Given the description of an element on the screen output the (x, y) to click on. 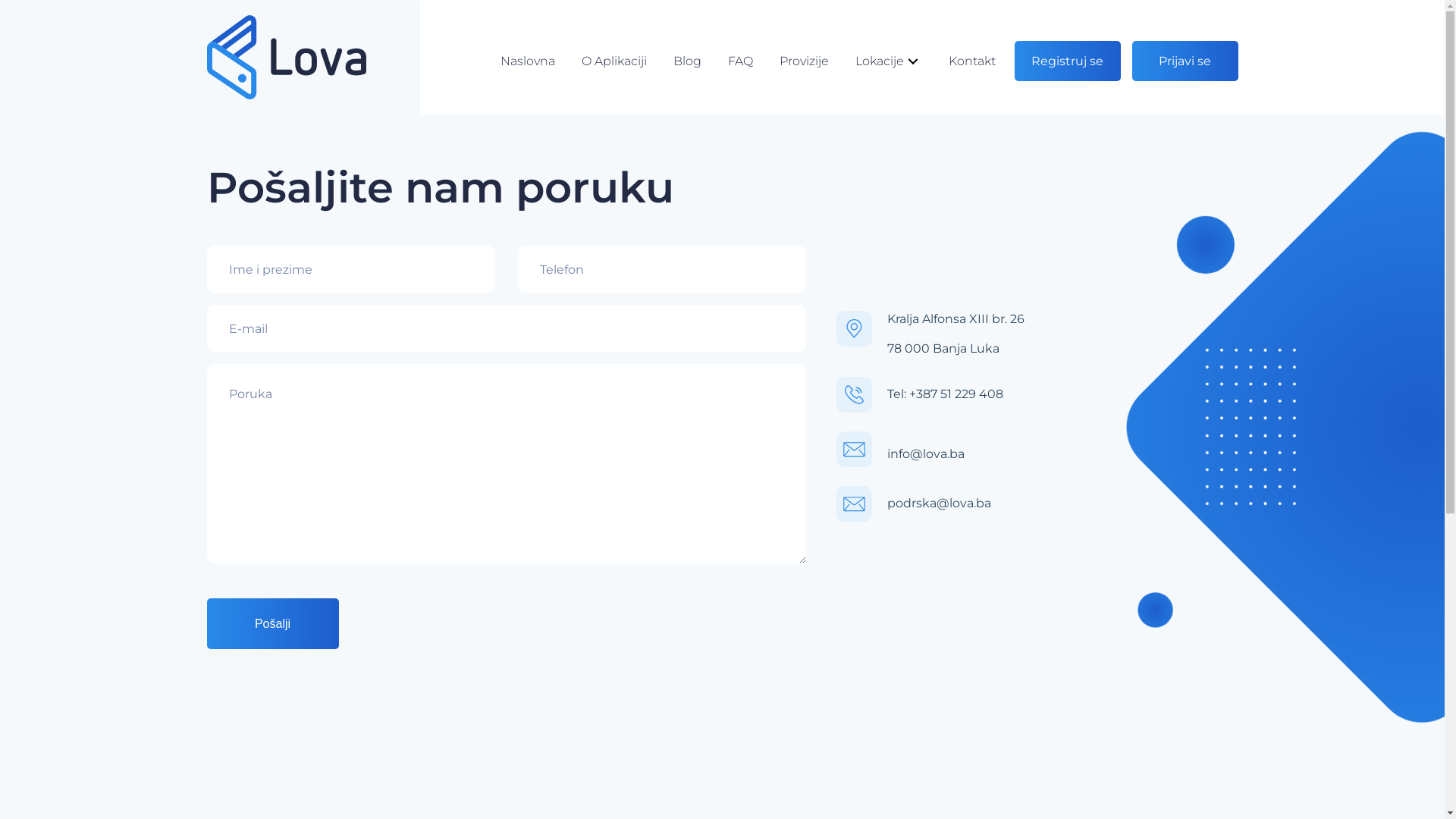
Provizije Element type: text (803, 60)
Lokacije Element type: text (888, 60)
lova.ba Element type: hover (285, 57)
FAQ Element type: text (740, 60)
Registruj se Element type: text (1067, 60)
O Aplikaciji Element type: text (613, 60)
Kontakt Element type: text (971, 60)
Prijavi se Element type: text (1184, 60)
Blog Element type: text (687, 60)
Naslovna Element type: text (527, 60)
